Given the description of an element on the screen output the (x, y) to click on. 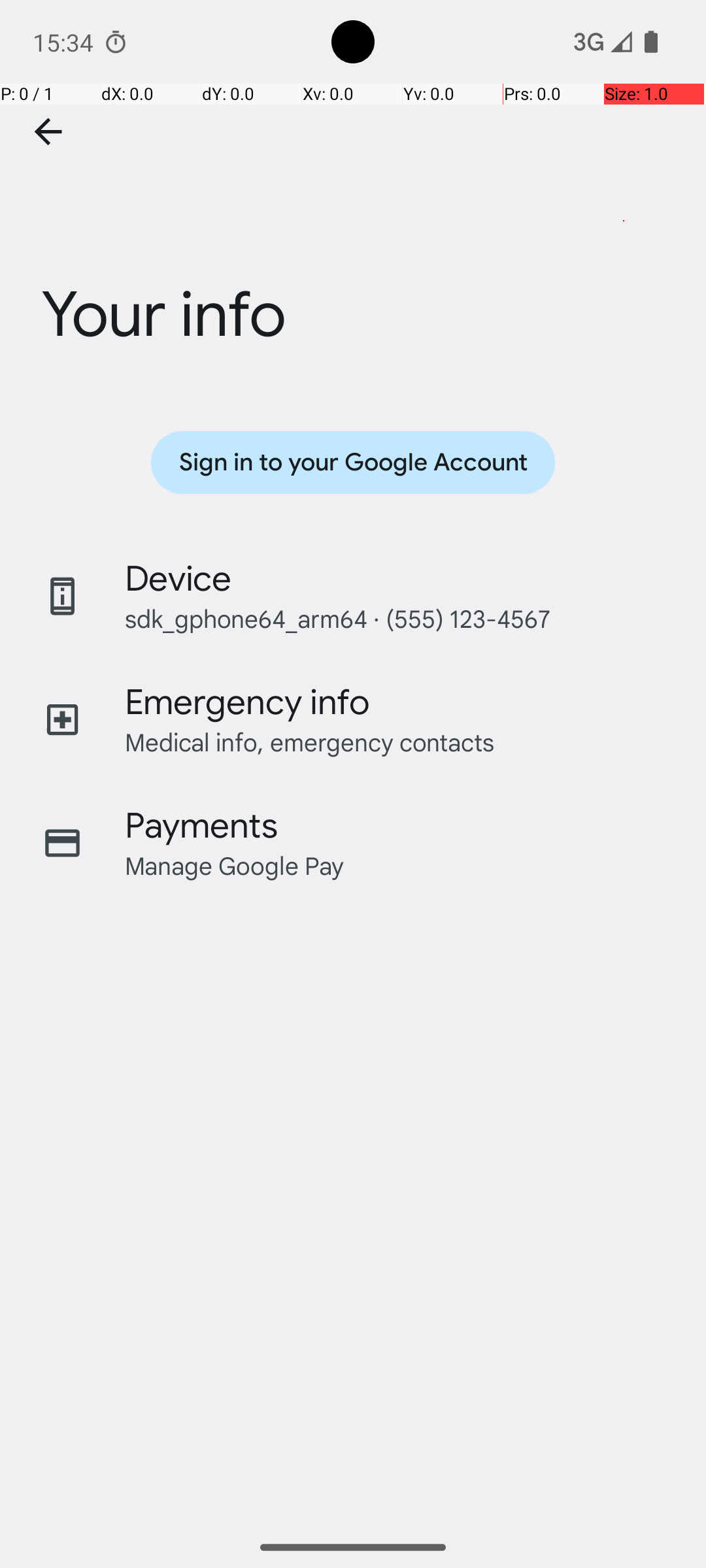
Sign in to your Google Account Element type: android.widget.Button (352, 462)
sdk_gphone64_arm64 · (555) 123-4567 Element type: android.widget.TextView (337, 618)
Emergency info Element type: android.widget.TextView (246, 702)
Medical info, emergency contacts Element type: android.widget.TextView (309, 741)
Payments Element type: android.widget.TextView (200, 825)
Manage Google Pay Element type: android.widget.TextView (234, 865)
